Given the description of an element on the screen output the (x, y) to click on. 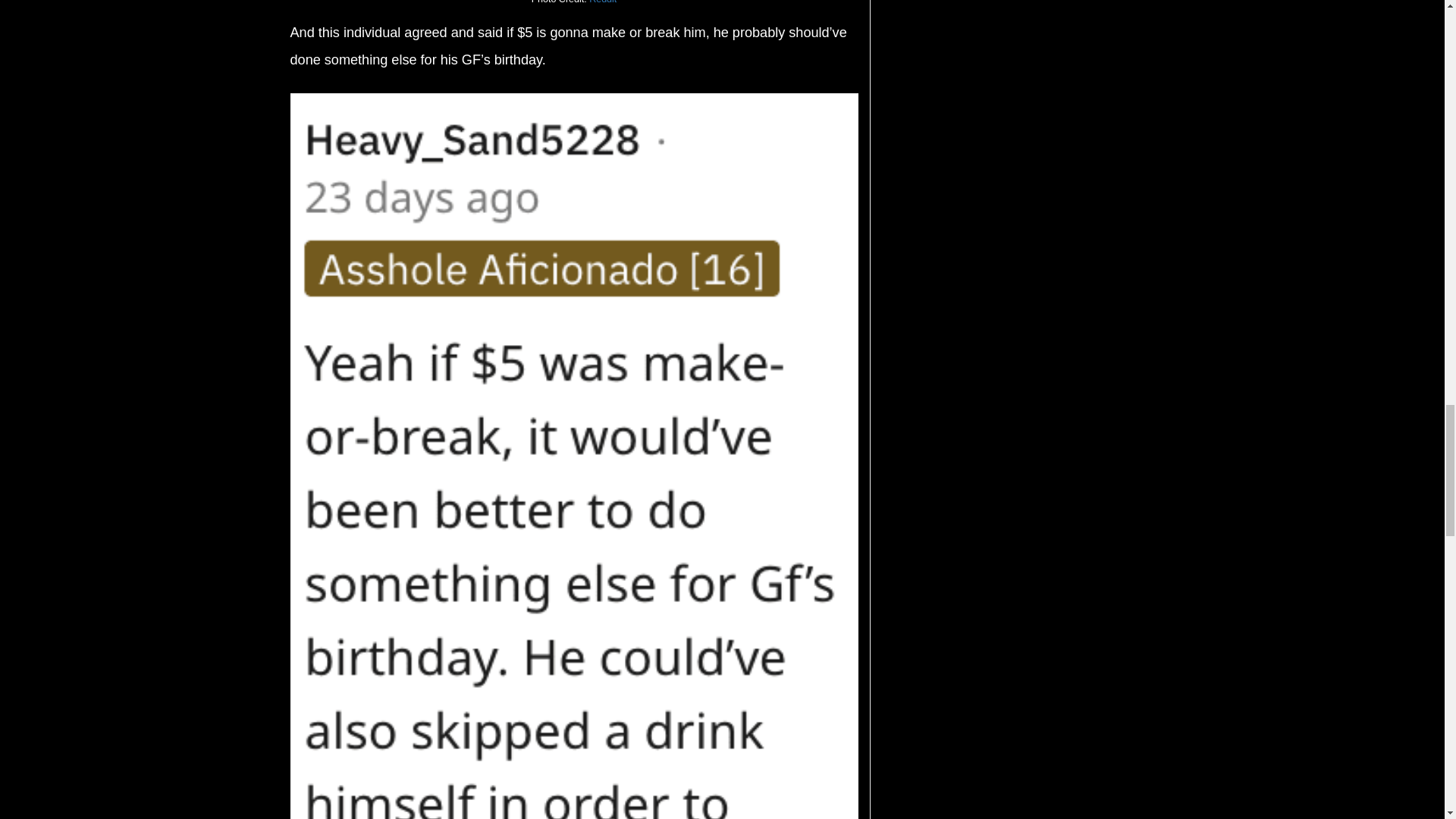
Reddit (602, 2)
